Given the description of an element on the screen output the (x, y) to click on. 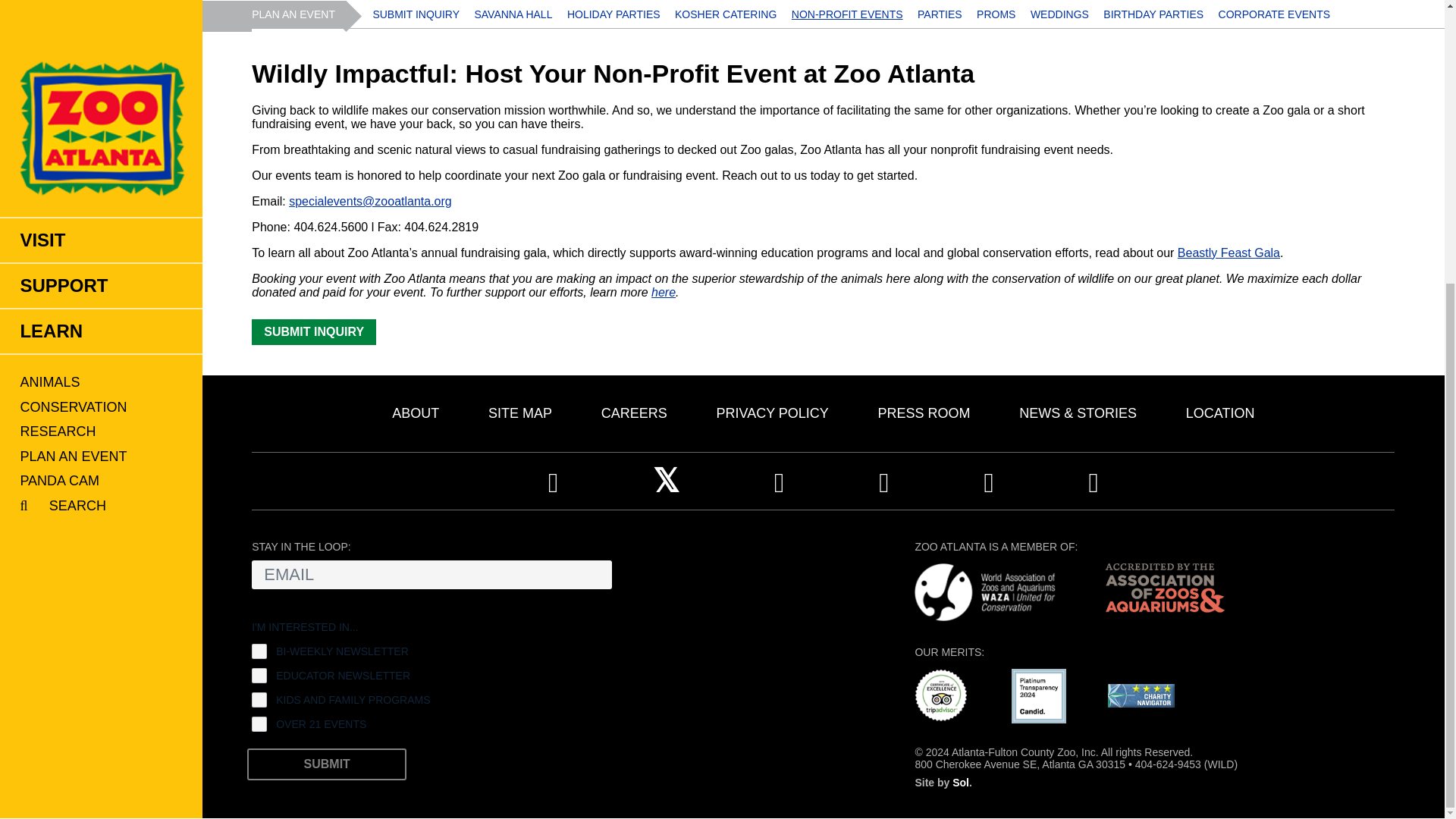
Submit (326, 764)
Over 21 Events (258, 724)
Educator Newsletter (258, 675)
Kids and Family Programs (258, 699)
Bi-weekly Newsletter (258, 651)
